Given the description of an element on the screen output the (x, y) to click on. 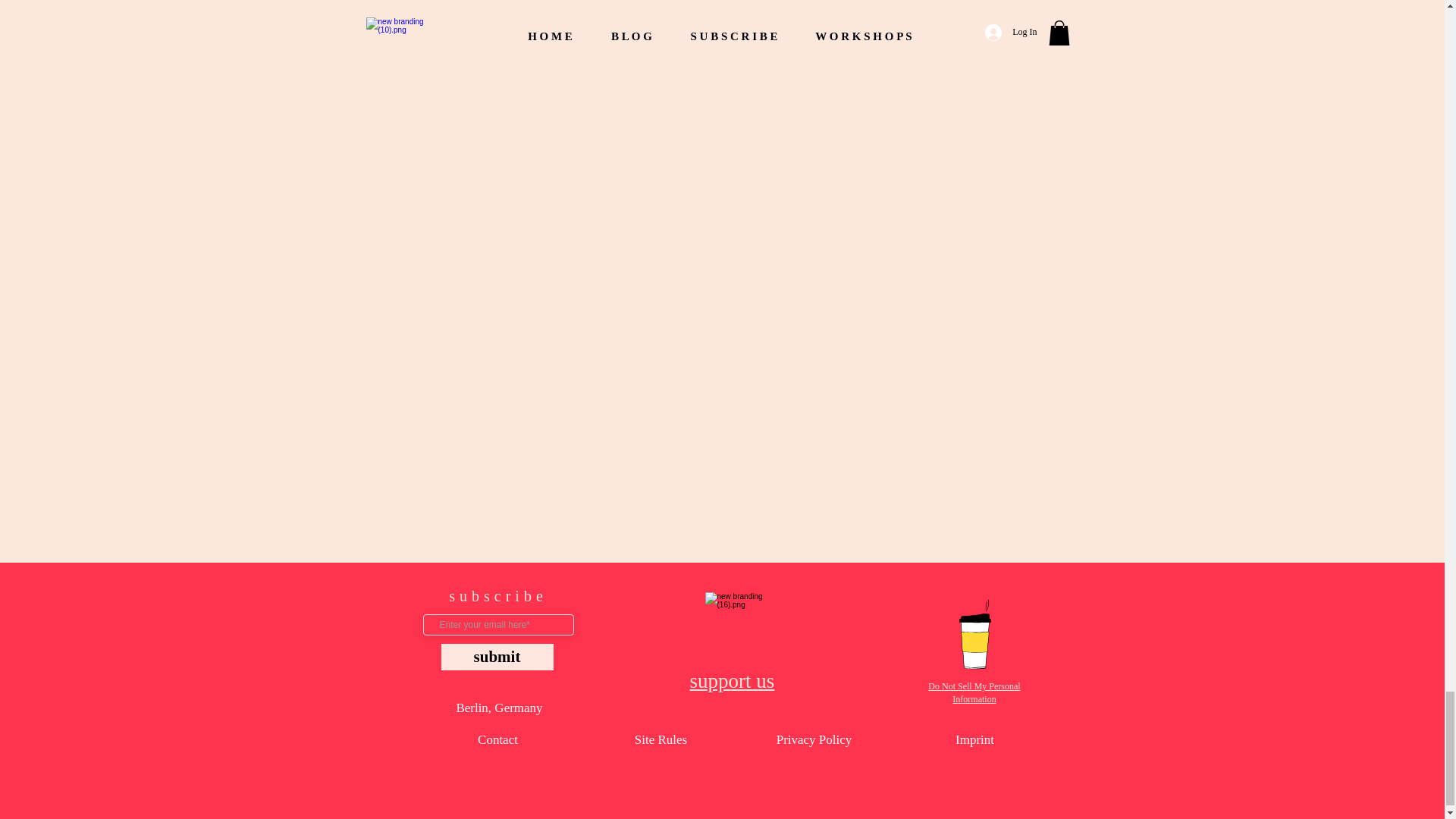
submit (497, 656)
